Given the description of an element on the screen output the (x, y) to click on. 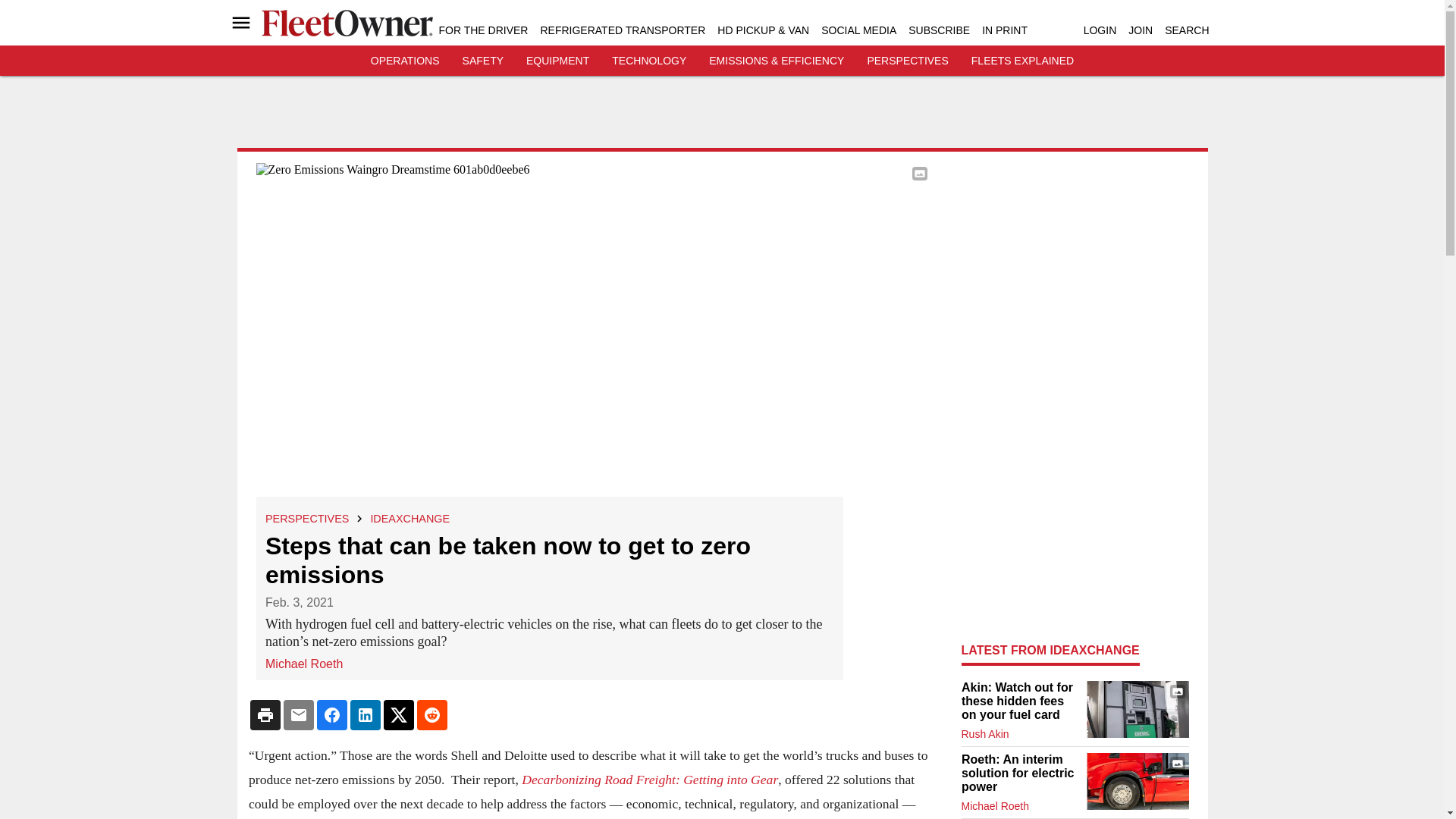
IN PRINT (1004, 30)
SUBSCRIBE (938, 30)
SAFETY (483, 60)
EQUIPMENT (557, 60)
REFRIGERATED TRANSPORTER (622, 30)
OPERATIONS (405, 60)
TECHNOLOGY (648, 60)
JOIN (1140, 30)
FOR THE DRIVER (482, 30)
